Given the description of an element on the screen output the (x, y) to click on. 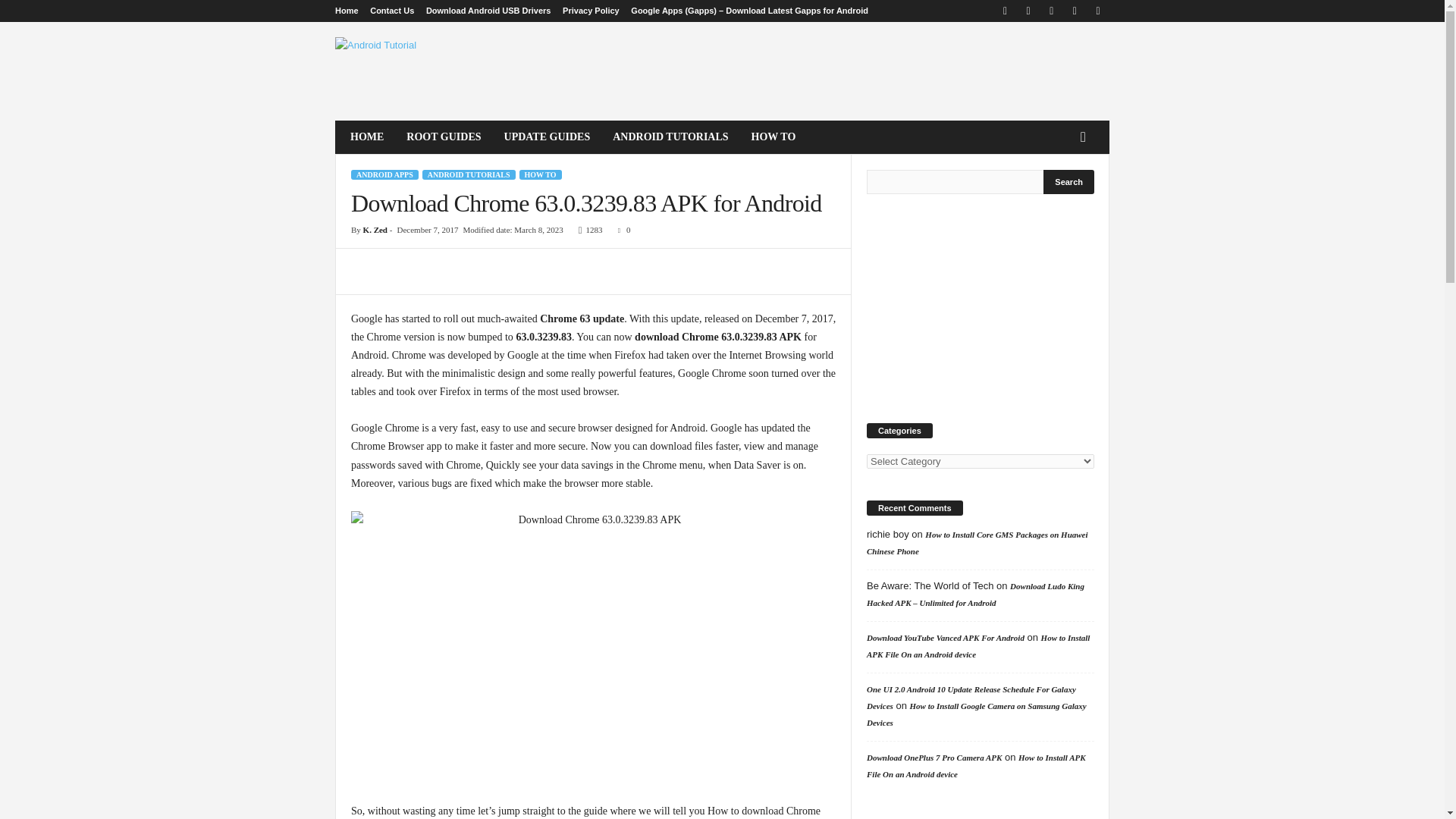
HOW TO (773, 136)
ANDROID APPS (384, 174)
Privacy Policy (591, 10)
Contact Us (391, 10)
UPDATE GUIDES (547, 136)
ROOT GUIDES (443, 136)
HOW TO (540, 174)
K. Zed (374, 229)
Download Android USB Drivers (488, 10)
ANDROID TUTORIALS (670, 136)
Home (346, 10)
Android Tutorial (437, 70)
HOME (366, 136)
ANDROID TUTORIALS (468, 174)
Android Tutorials, Rooting Guides, Update Android Tutorials (437, 70)
